Given the description of an element on the screen output the (x, y) to click on. 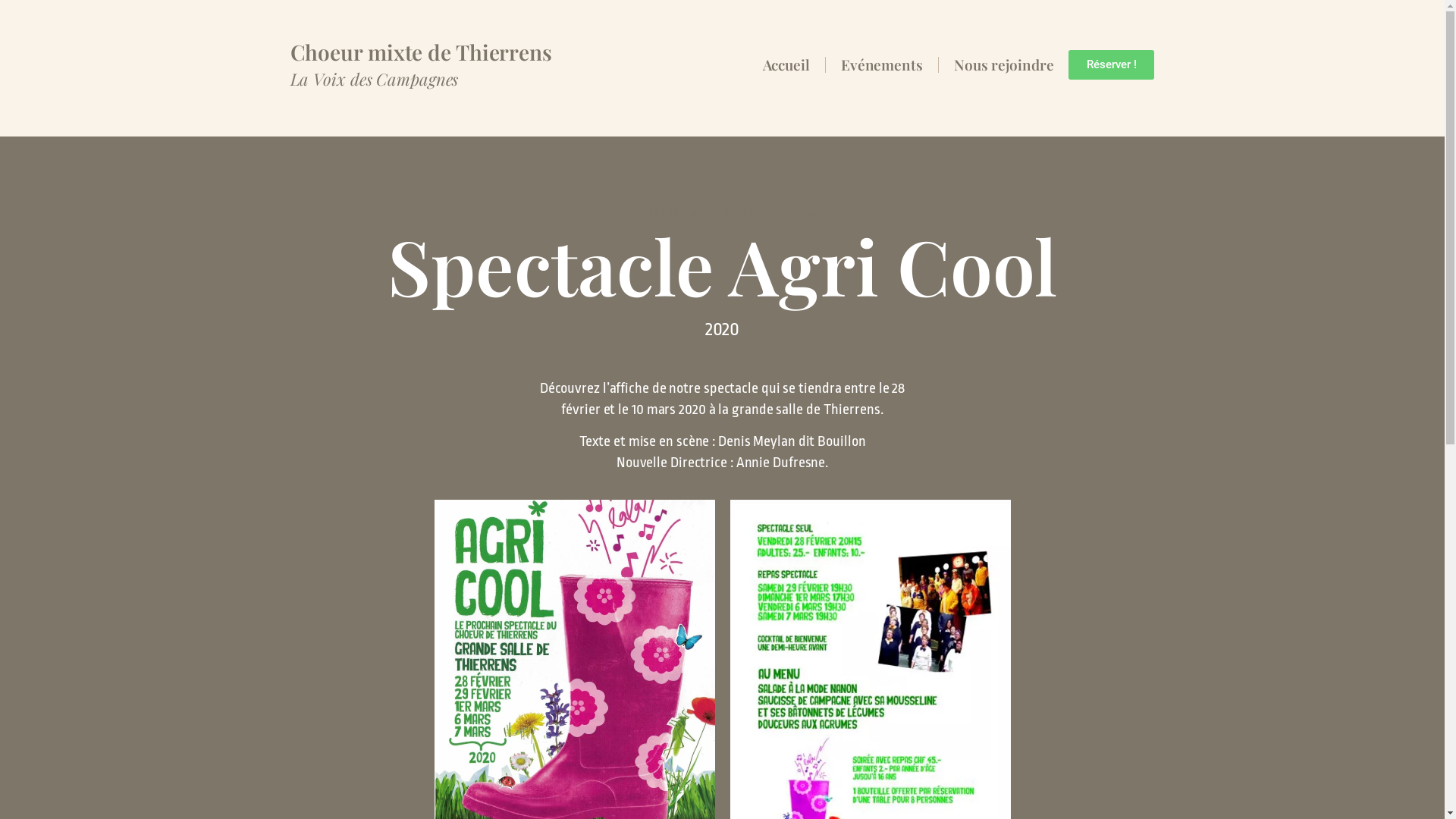
Accueil Element type: text (786, 64)
Choeur mixte de Thierrens Element type: text (420, 51)
Nous rejoindre Element type: text (1003, 64)
